Given the description of an element on the screen output the (x, y) to click on. 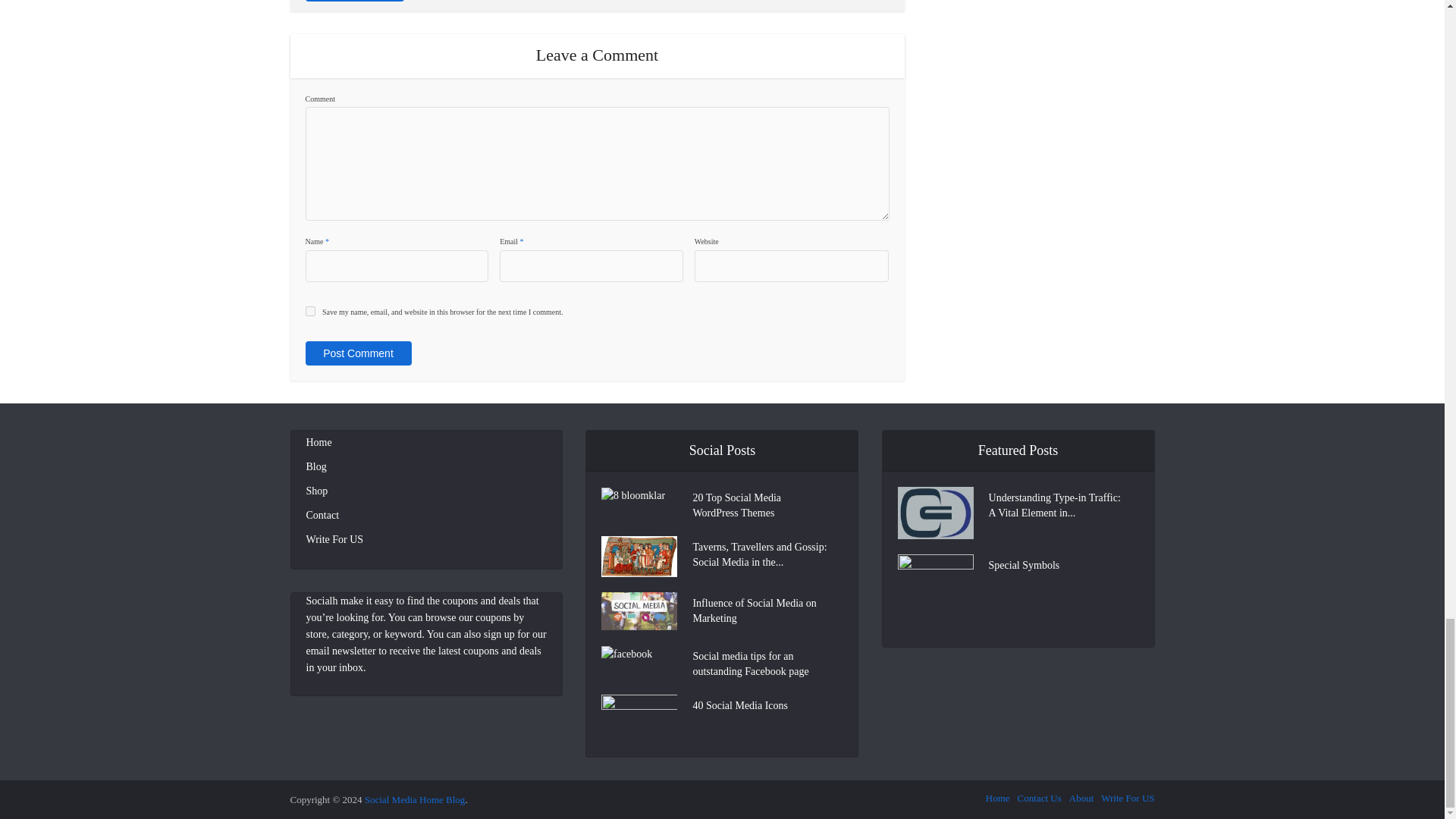
Post Comment (357, 353)
yes (309, 311)
